Given the description of an element on the screen output the (x, y) to click on. 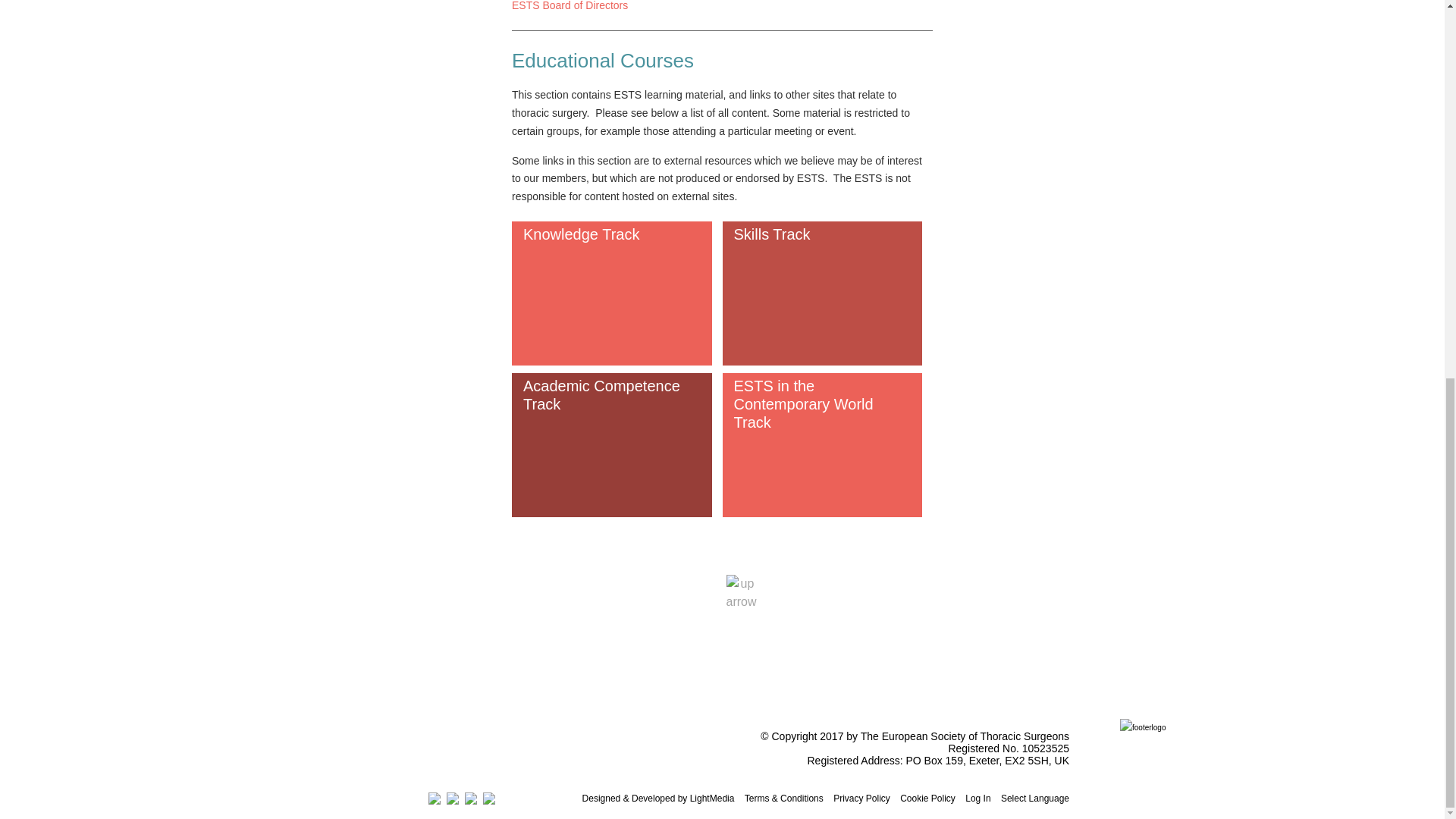
Read our Privacy Policy (860, 798)
LinkedIn (489, 797)
Back to the ESTS home page (1142, 727)
Instagram (470, 797)
Select Language (1034, 798)
Facebook (452, 797)
Twitter (434, 797)
Read our Cookie Policy (927, 798)
Log in to your Member account (977, 798)
